Given the description of an element on the screen output the (x, y) to click on. 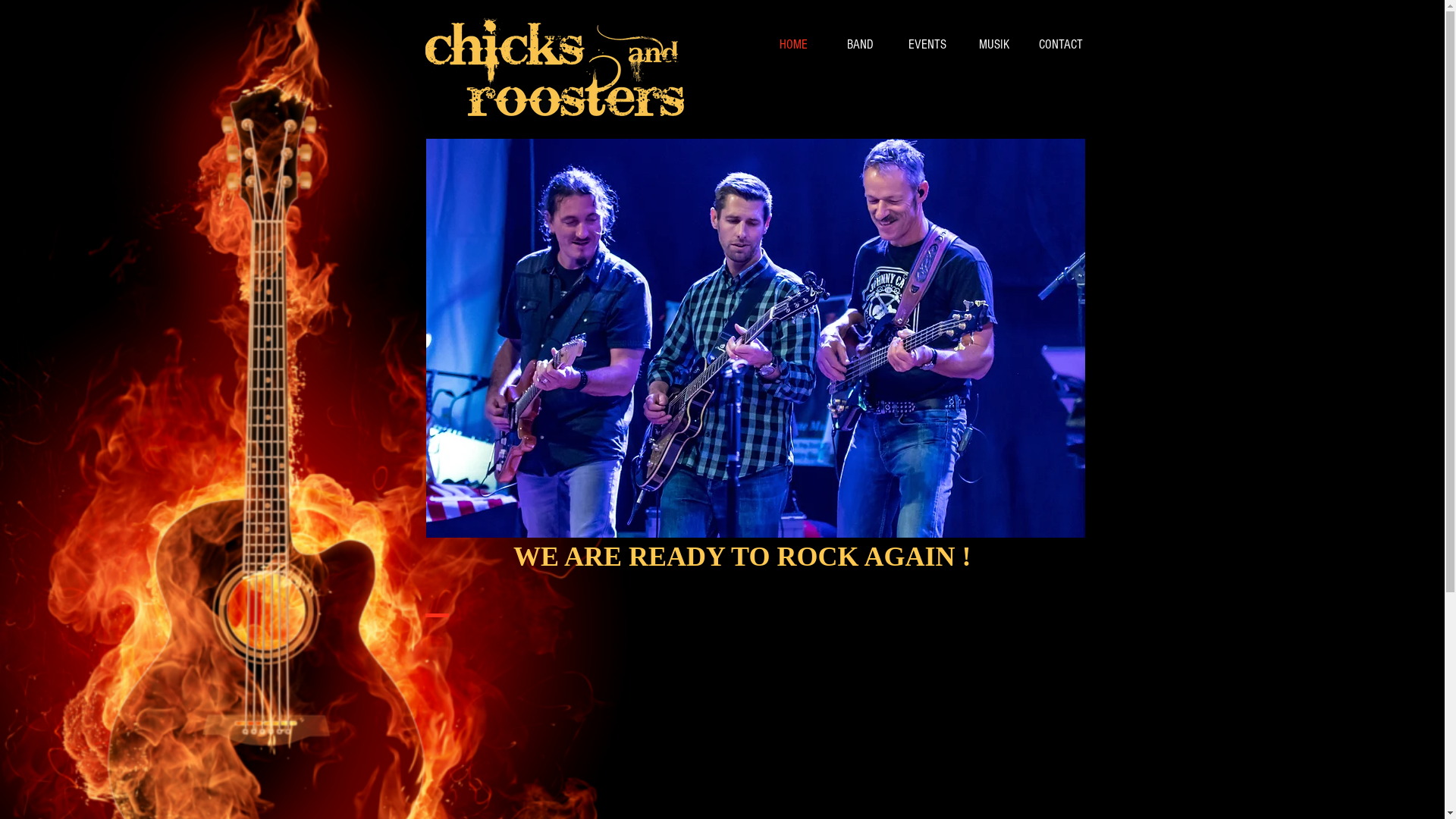
EVENTS Element type: text (926, 44)
logo.png Element type: hover (553, 67)
HOME Element type: text (792, 44)
BAND Element type: text (859, 44)
CONTACT Element type: text (1059, 44)
MUSIK Element type: text (993, 44)
